Given the description of an element on the screen output the (x, y) to click on. 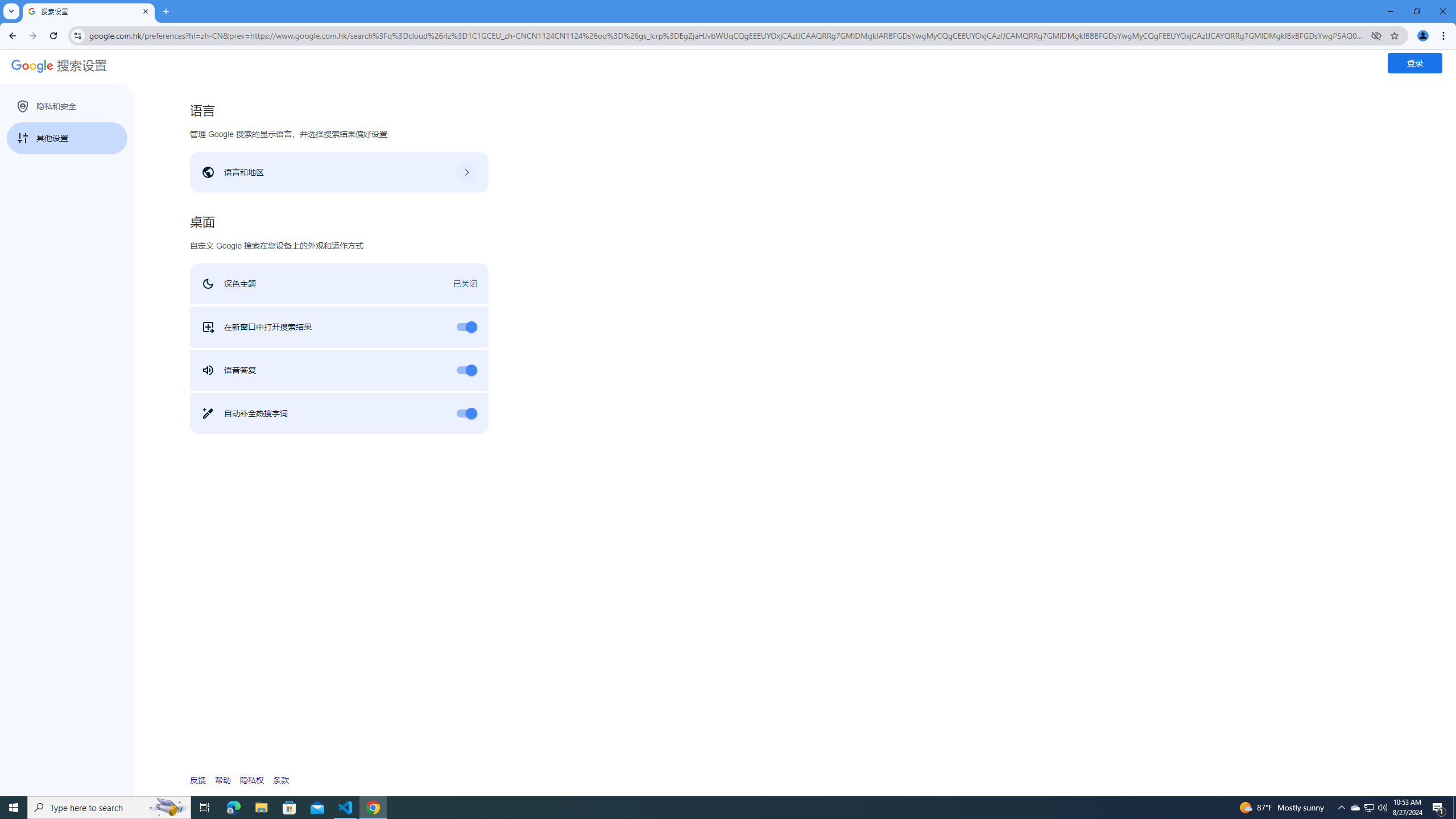
Third-party cookies blocked (1376, 35)
